Given the description of an element on the screen output the (x, y) to click on. 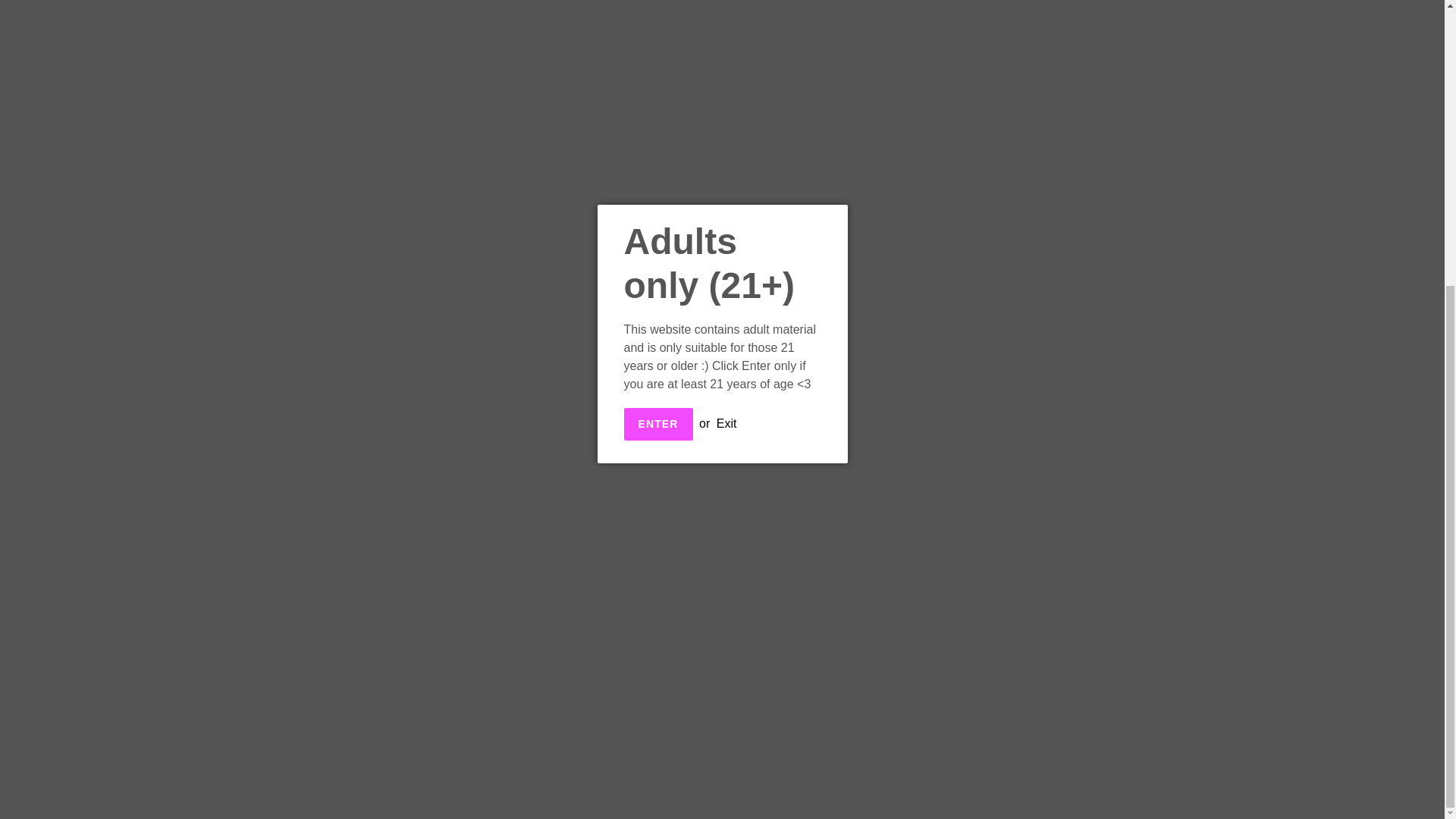
ENTER (658, 4)
Twitter (843, 485)
